Given the description of an element on the screen output the (x, y) to click on. 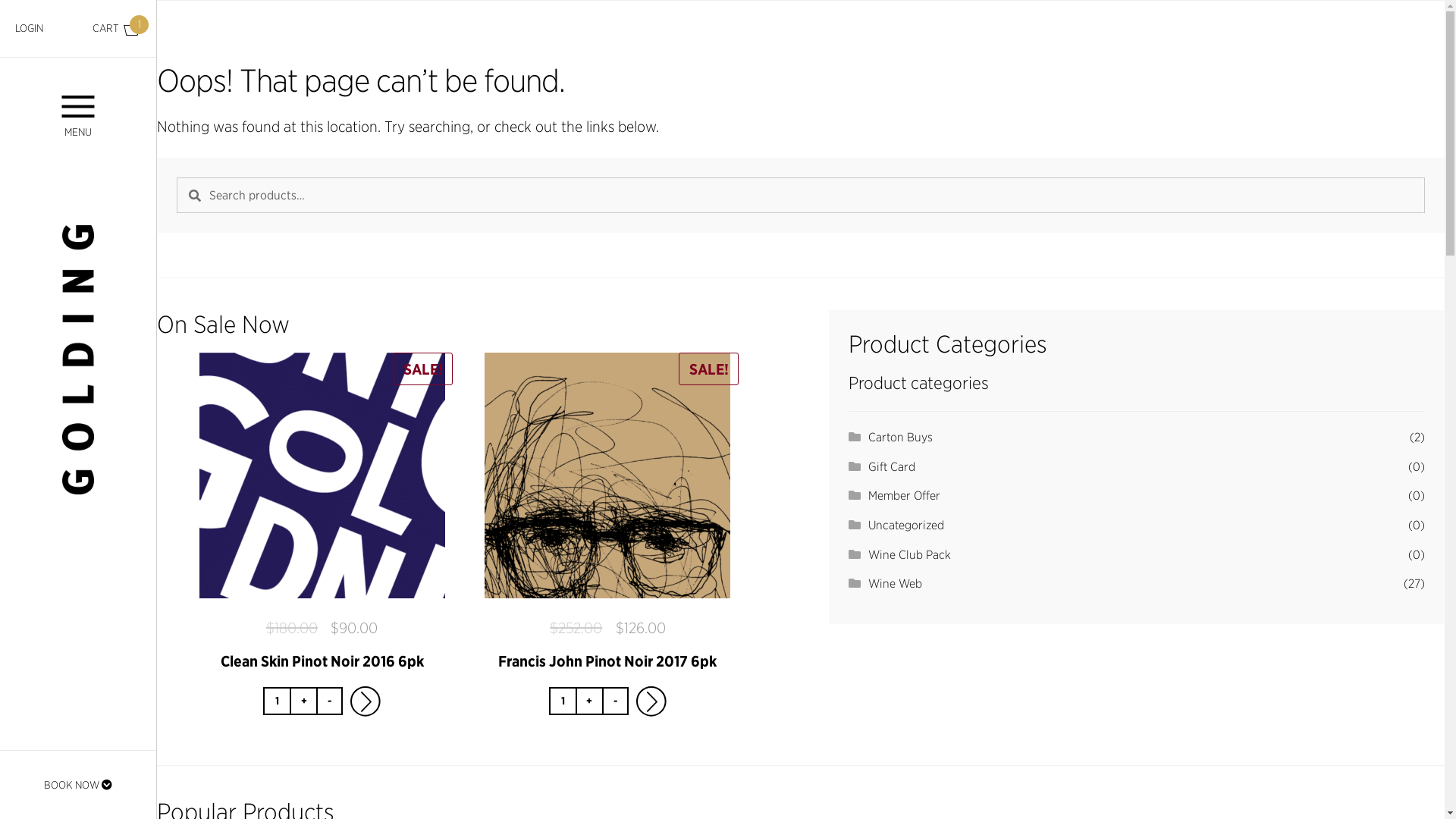
Golding Wines  Element type: hover (78, 359)
Qty Element type: hover (276, 701)
Search Element type: text (175, 176)
Carton Buys Element type: text (900, 436)
Member Offer Element type: text (904, 494)
LOGIN Element type: text (29, 27)
BOOK NOW Element type: text (77, 784)
Uncategorized Element type: text (906, 524)
Wine Web Element type: text (895, 582)
Qty Element type: hover (562, 701)
CART Element type: text (116, 28)
Wine Club Pack Element type: text (909, 553)
$180.00 $90.00
Clean Skin Pinot Noir 2016 6pk
SALE! Element type: text (321, 511)
$252.00 $126.00
Francis John Pinot Noir 2017 6pk
SALE! Element type: text (607, 511)
Gift Card Element type: text (891, 465)
